Given the description of an element on the screen output the (x, y) to click on. 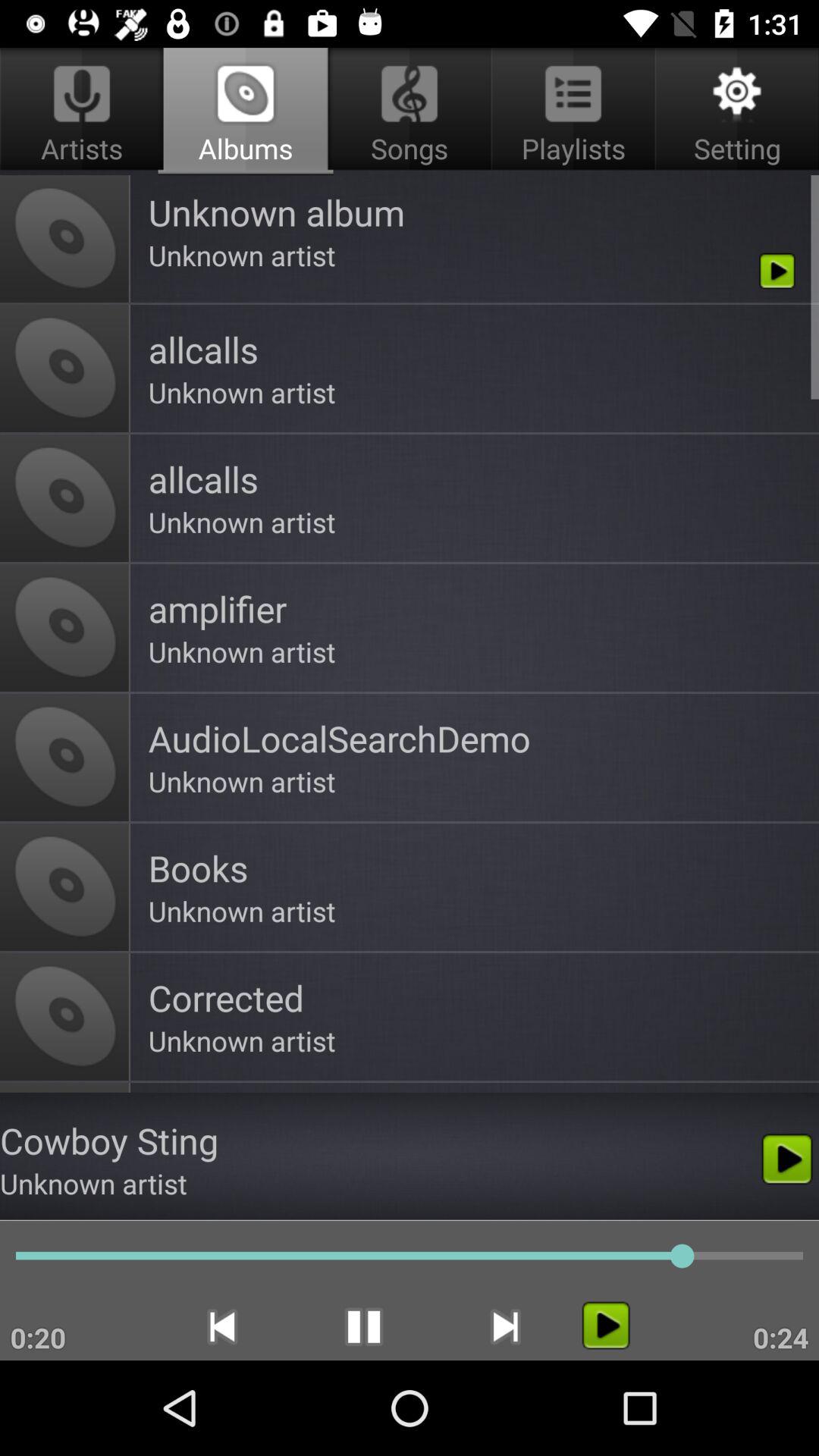
click app to the right of albums app (572, 111)
